Given the description of an element on the screen output the (x, y) to click on. 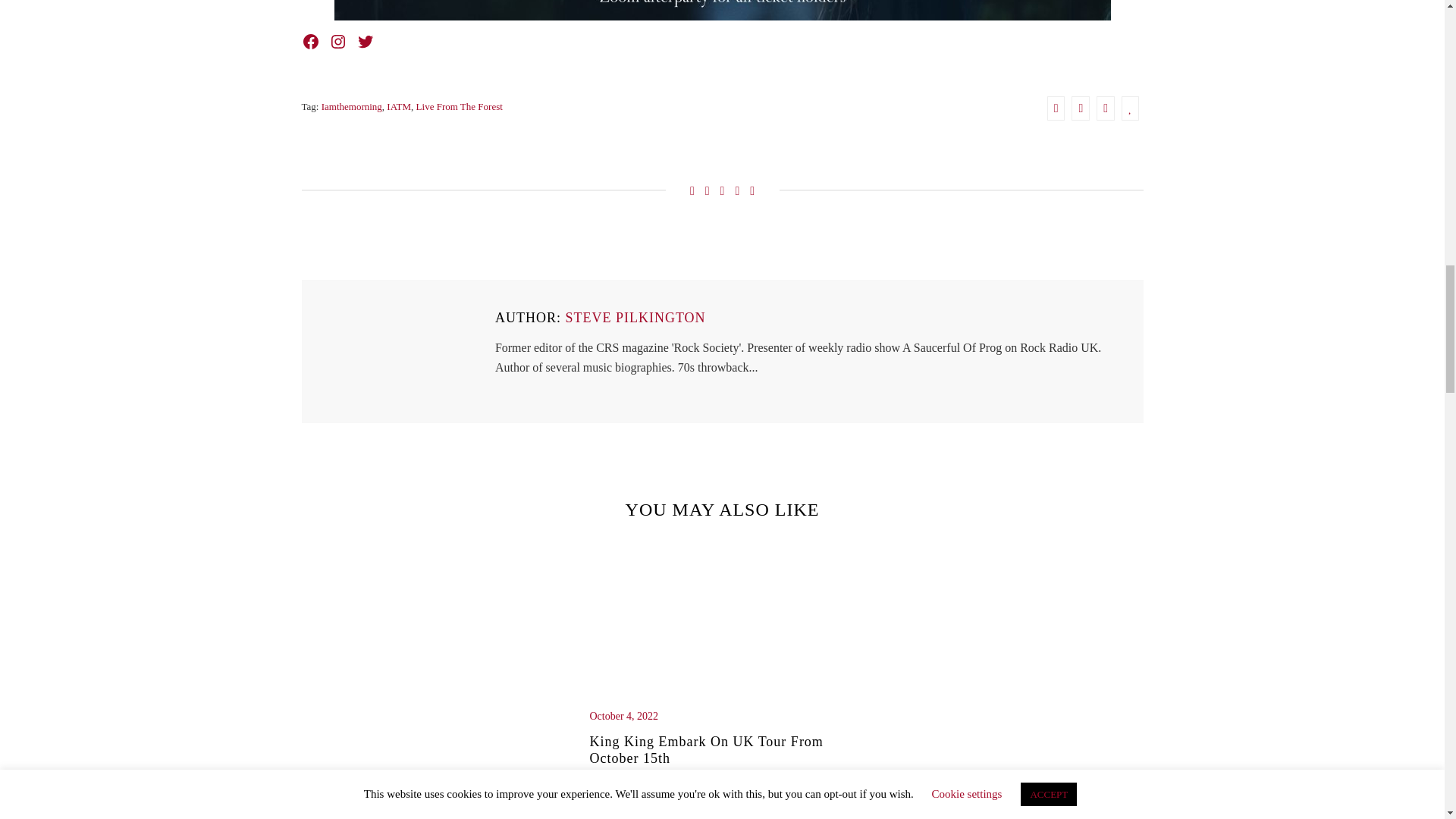
Iamthemorning (351, 107)
Live From The Forest (459, 107)
King King Embark On UK Tour From October 15th (721, 755)
May 27, 2023 (1009, 783)
Instagram (338, 41)
October 4, 2022 (721, 716)
Twitter (365, 41)
IATM (398, 107)
STEVE PILKINGTON (634, 318)
Facebook (310, 41)
June 19, 2022 (434, 783)
